Given the description of an element on the screen output the (x, y) to click on. 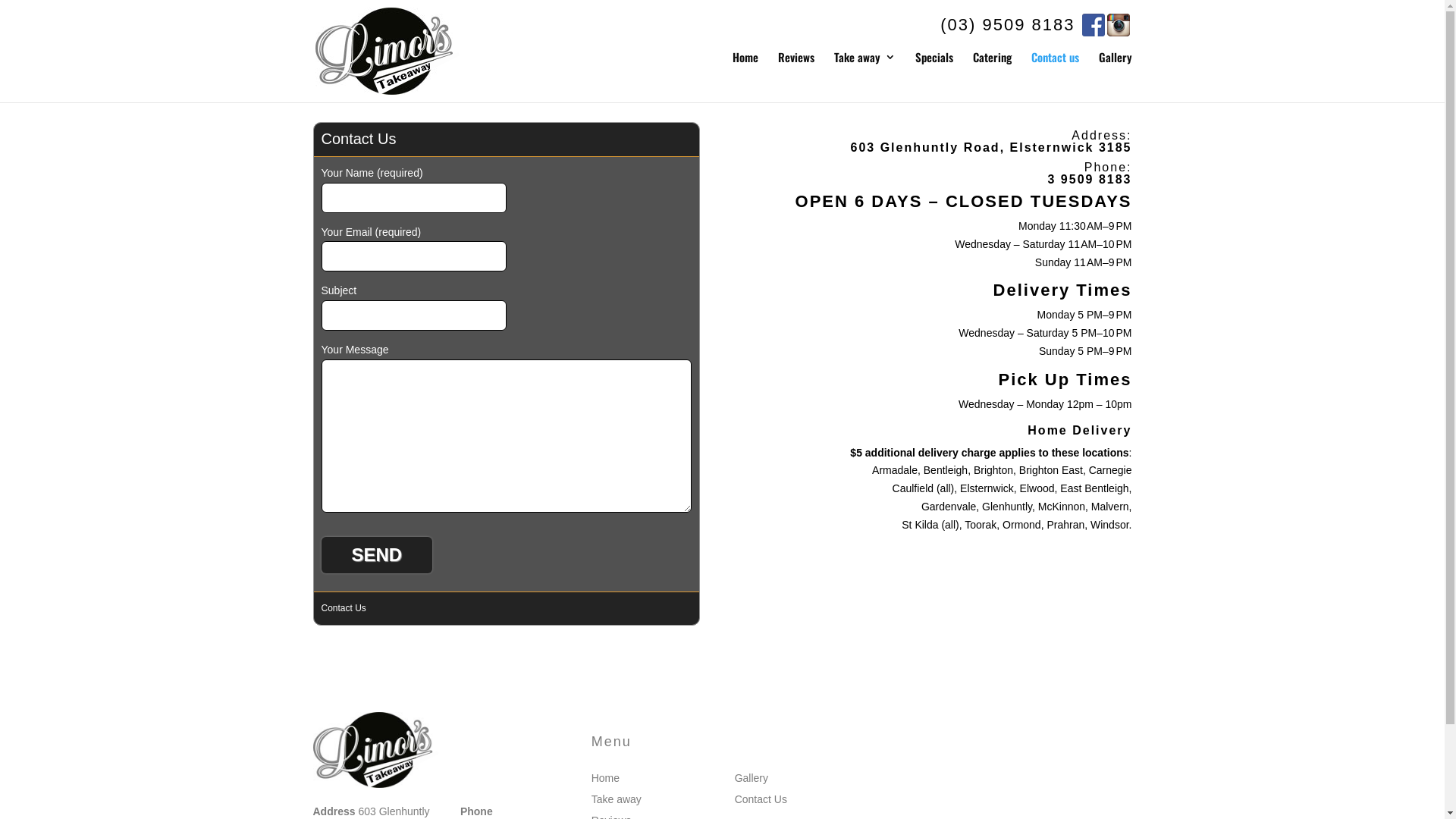
Reviews Element type: text (796, 67)
Contact Us Element type: text (760, 799)
Catering Element type: text (991, 67)
Gallery Element type: text (1114, 67)
(03) 9509 8183 Element type: text (1007, 24)
Home Element type: text (605, 777)
Take away Element type: text (864, 67)
Send Element type: text (376, 554)
Contact us Element type: text (1055, 67)
Take away Element type: text (616, 799)
Home Element type: text (745, 67)
Specials Element type: text (933, 67)
Gallery Element type: text (751, 777)
